Given the description of an element on the screen output the (x, y) to click on. 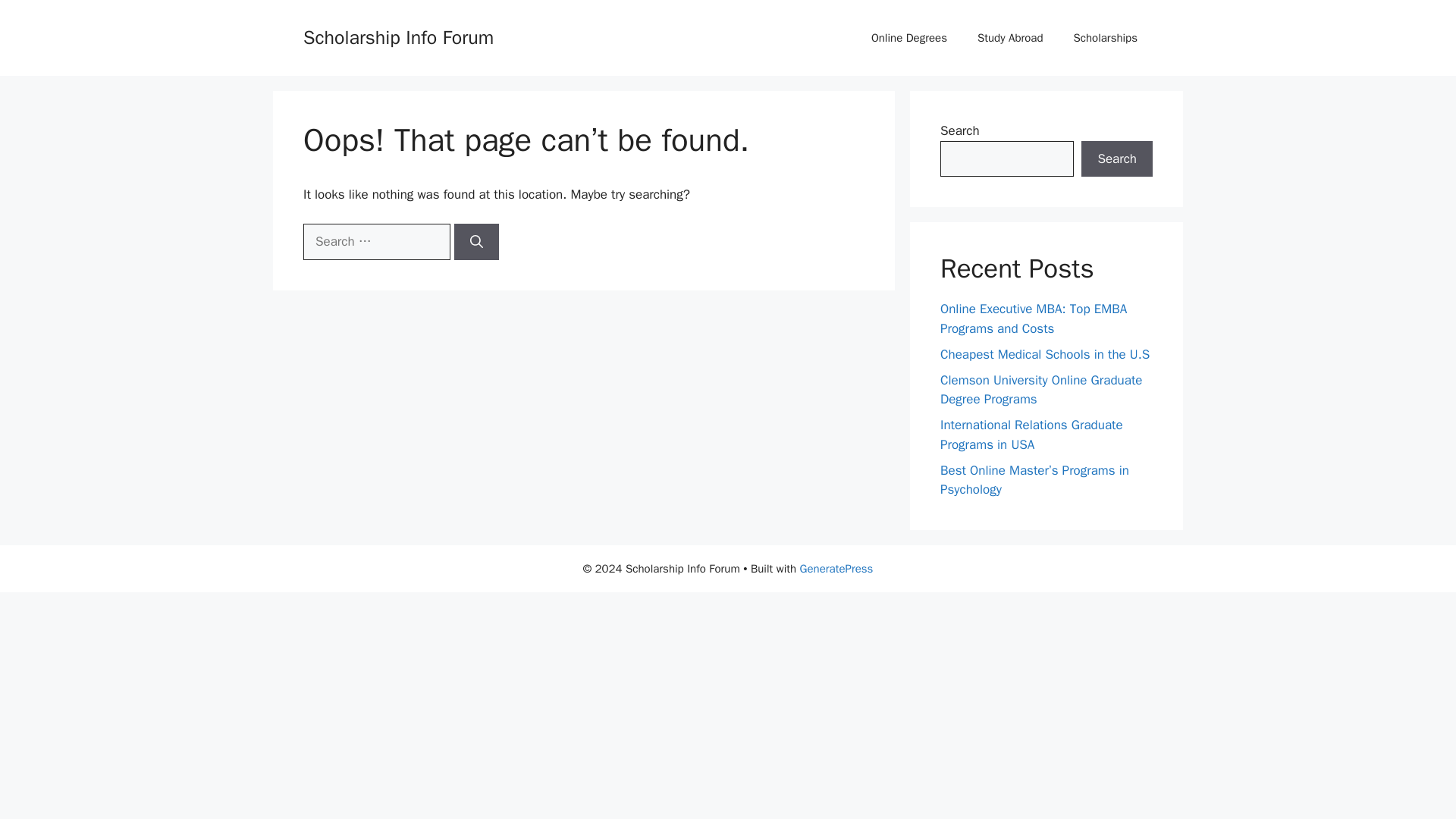
Scholarship Info Forum (397, 37)
Online Degrees (909, 37)
Online Executive MBA: Top EMBA Programs and Costs (1033, 318)
Study Abroad (1010, 37)
International Relations Graduate Programs in USA (1031, 434)
Clemson University Online Graduate Degree Programs (1041, 389)
GeneratePress (836, 567)
Search for: (375, 241)
Scholarships (1105, 37)
Search (1117, 158)
